Given the description of an element on the screen output the (x, y) to click on. 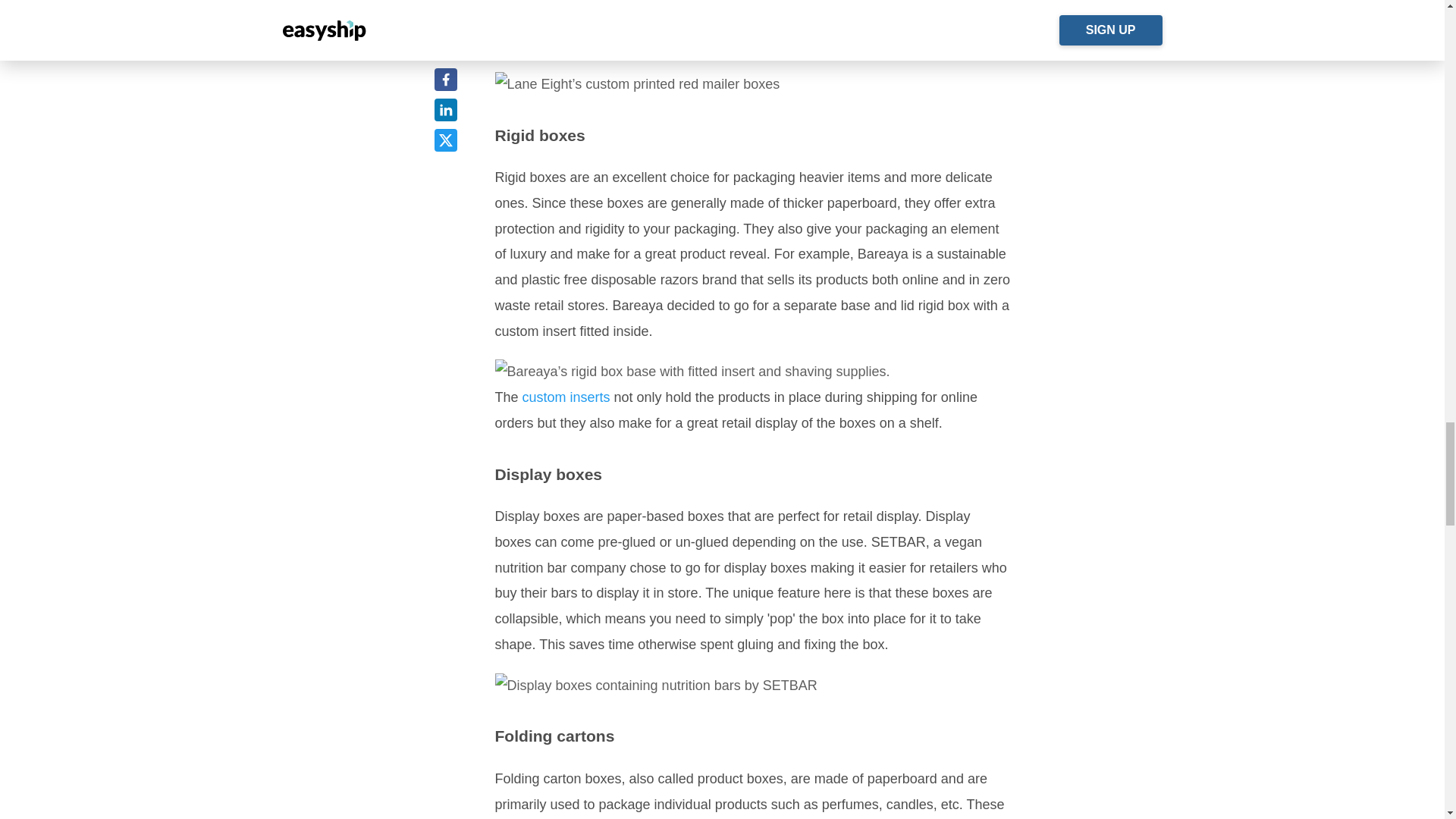
custom inserts (564, 396)
